Given the description of an element on the screen output the (x, y) to click on. 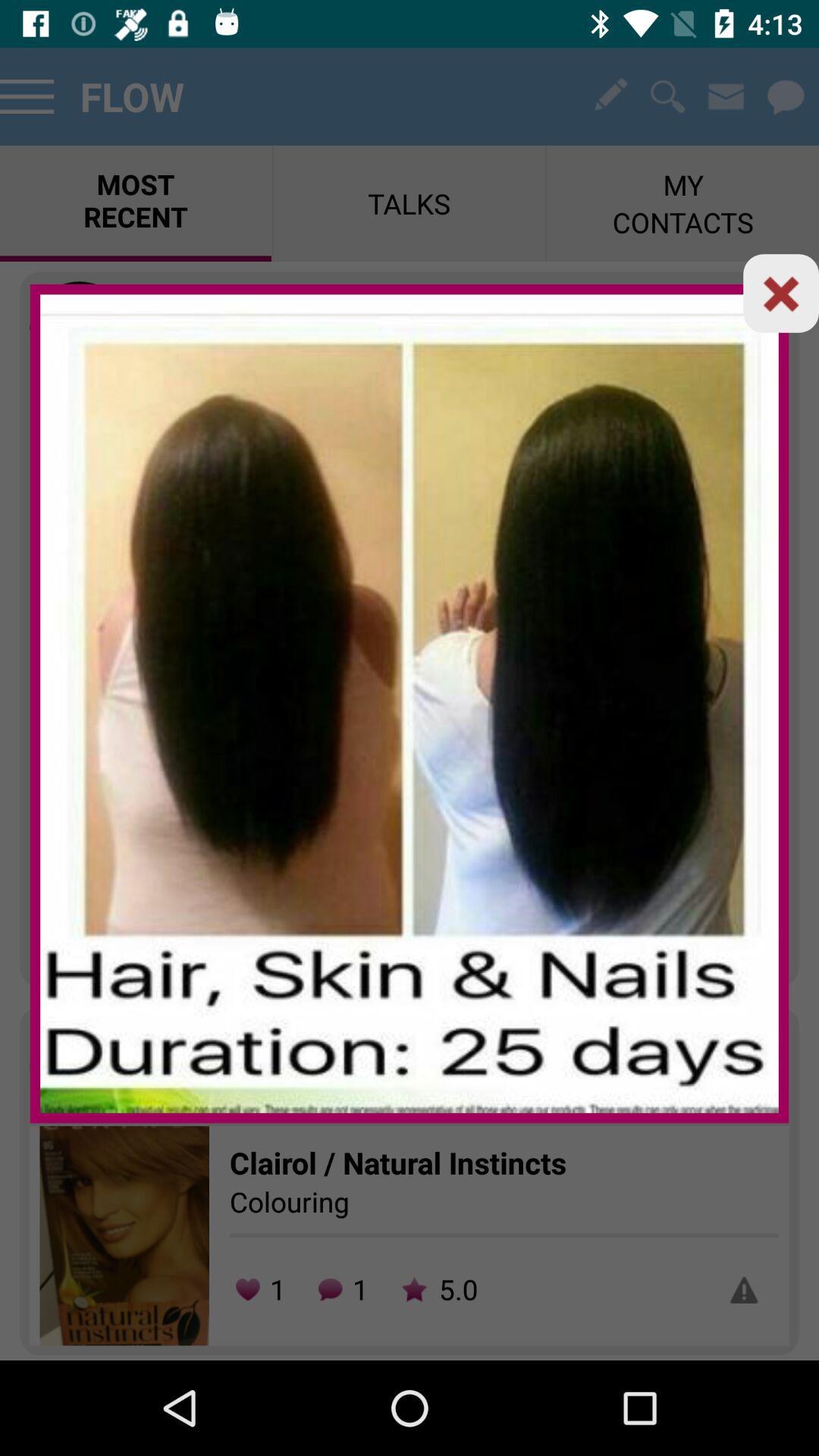
close button (781, 293)
